Given the description of an element on the screen output the (x, y) to click on. 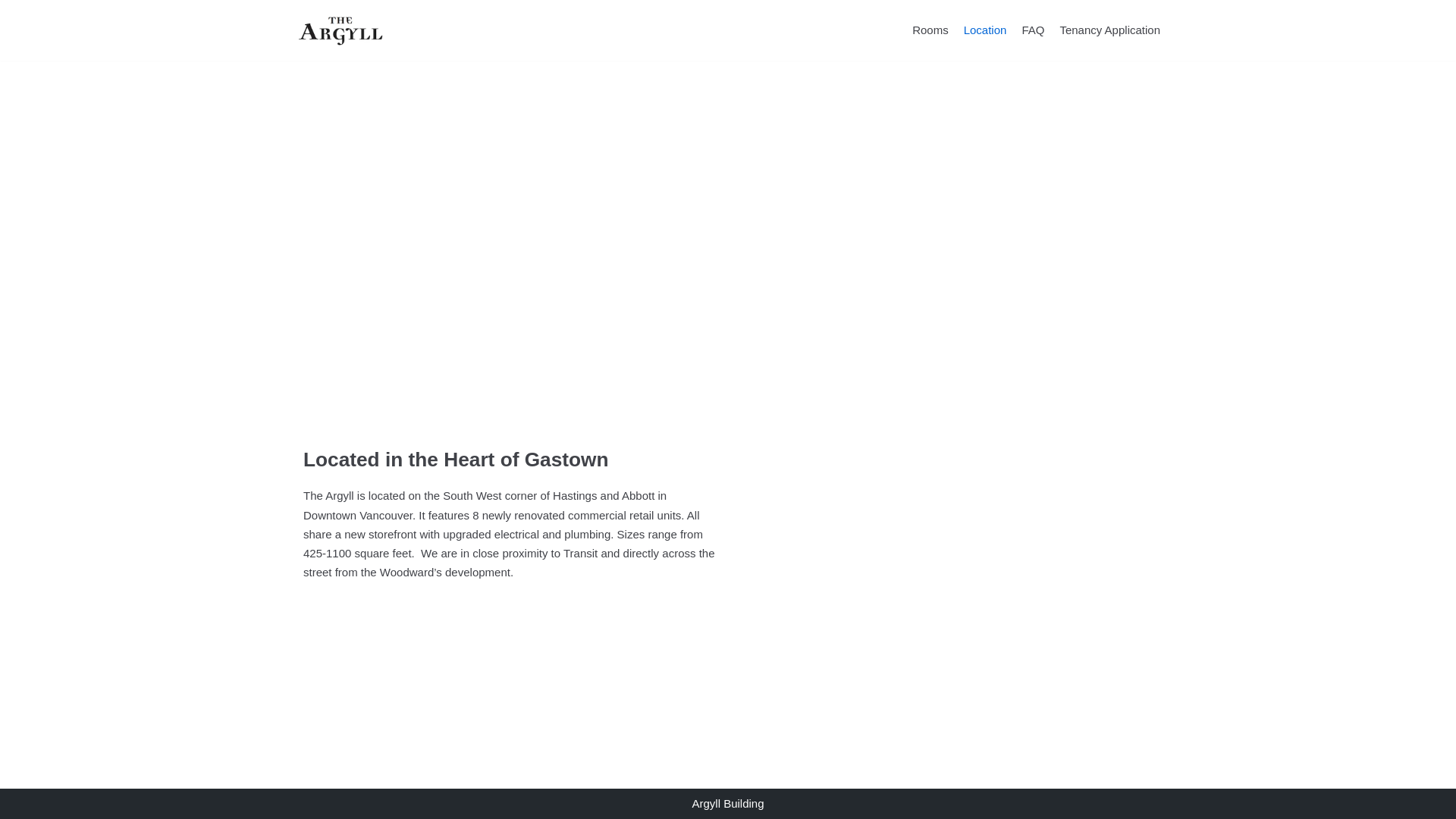
Location Element type: text (985, 30)
Skip to content Element type: text (15, 31)
Tenancy Application Element type: text (1109, 30)
106 West Hastings St. Vancouver BC Element type: hover (727, 247)
FAQ Element type: text (1032, 30)
Rooms Element type: text (930, 30)
Argyll Building Element type: hover (340, 30)
